Given the description of an element on the screen output the (x, y) to click on. 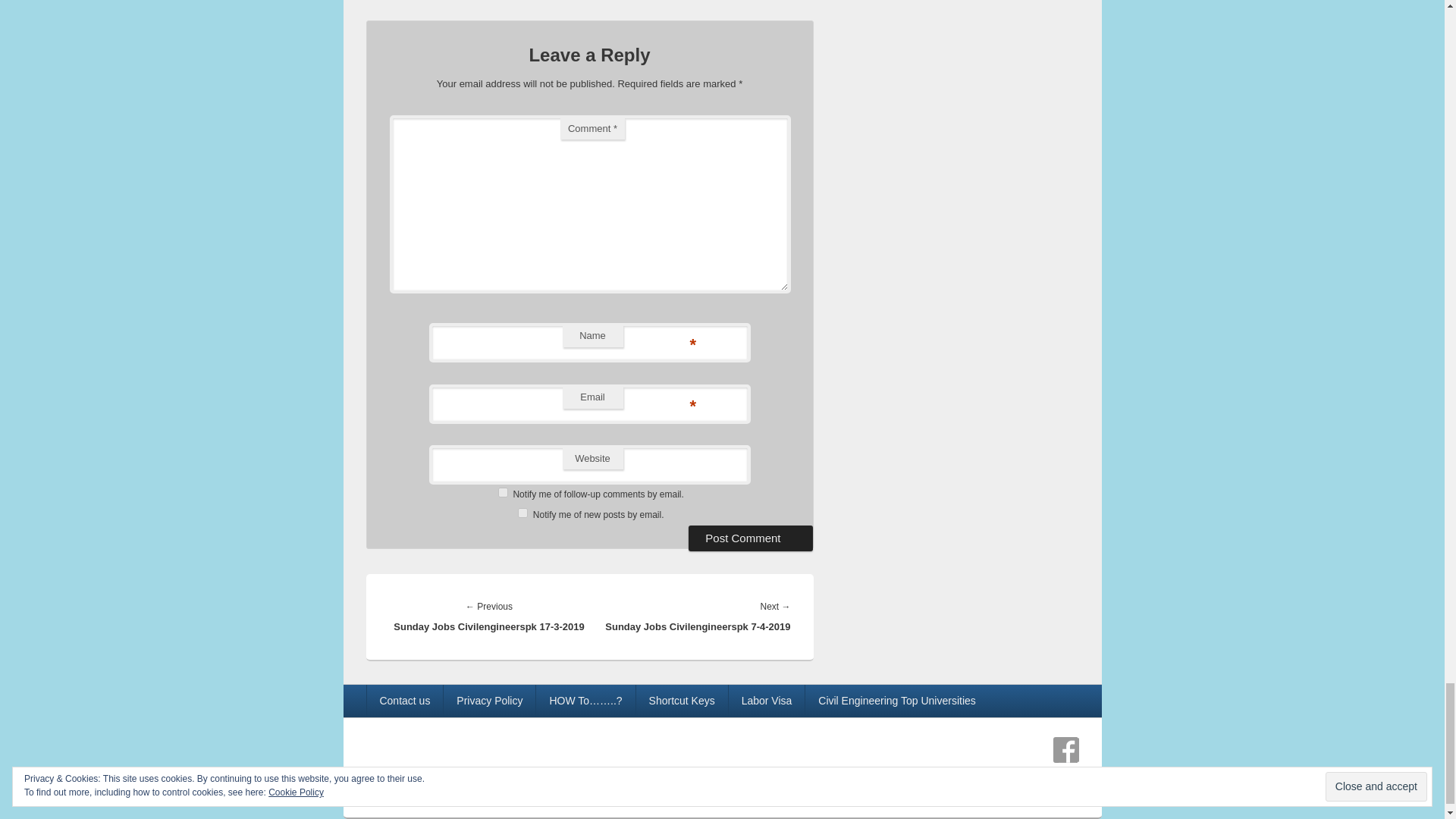
Post Comment (750, 538)
subscribe (502, 492)
subscribe (522, 512)
